Given the description of an element on the screen output the (x, y) to click on. 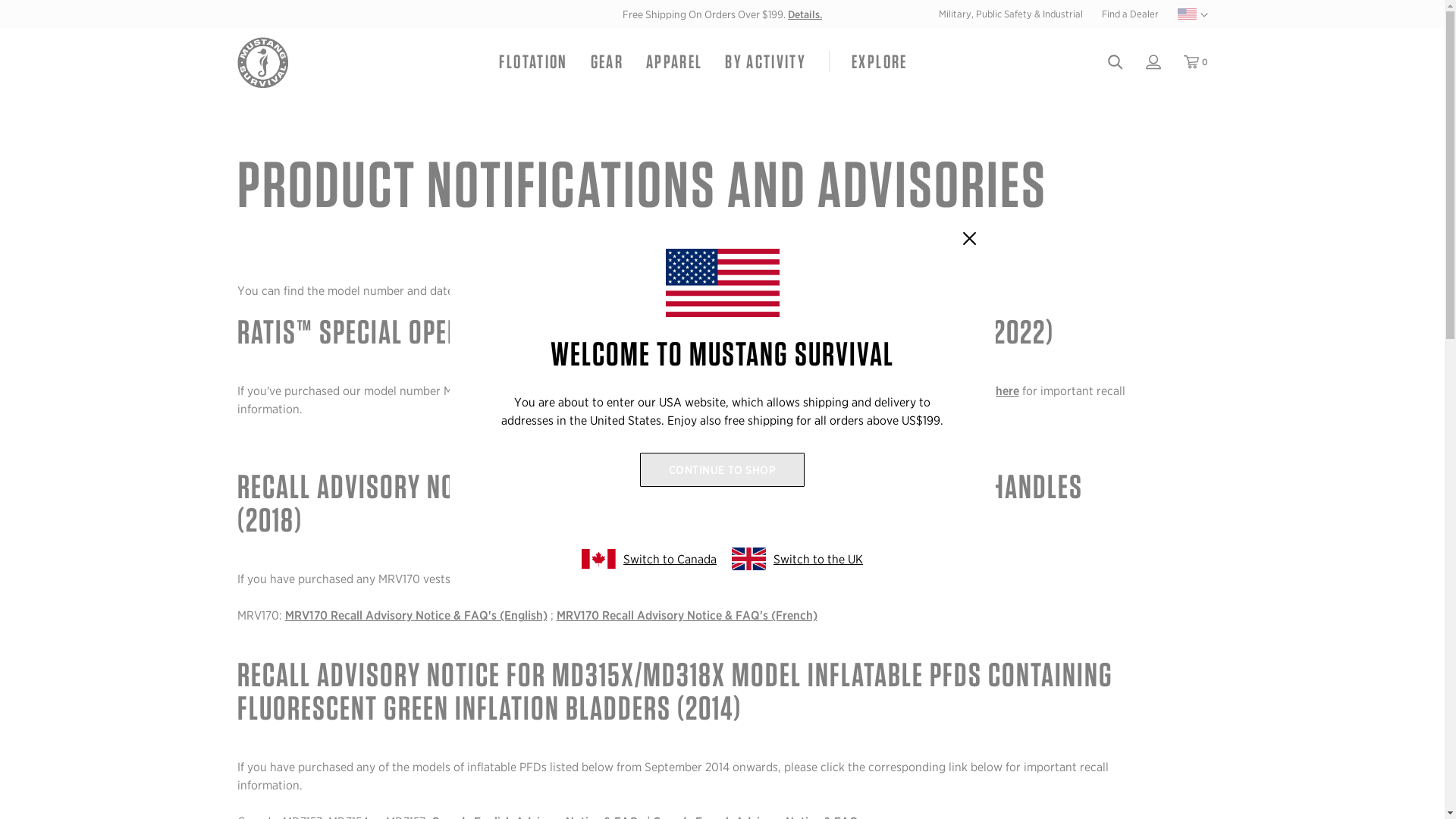
Find a Dealer (1128, 13)
Details. (804, 13)
APPAREL (673, 61)
FLOTATION (532, 61)
Opens a widget where you can find more information (1386, 792)
